Given the description of an element on the screen output the (x, y) to click on. 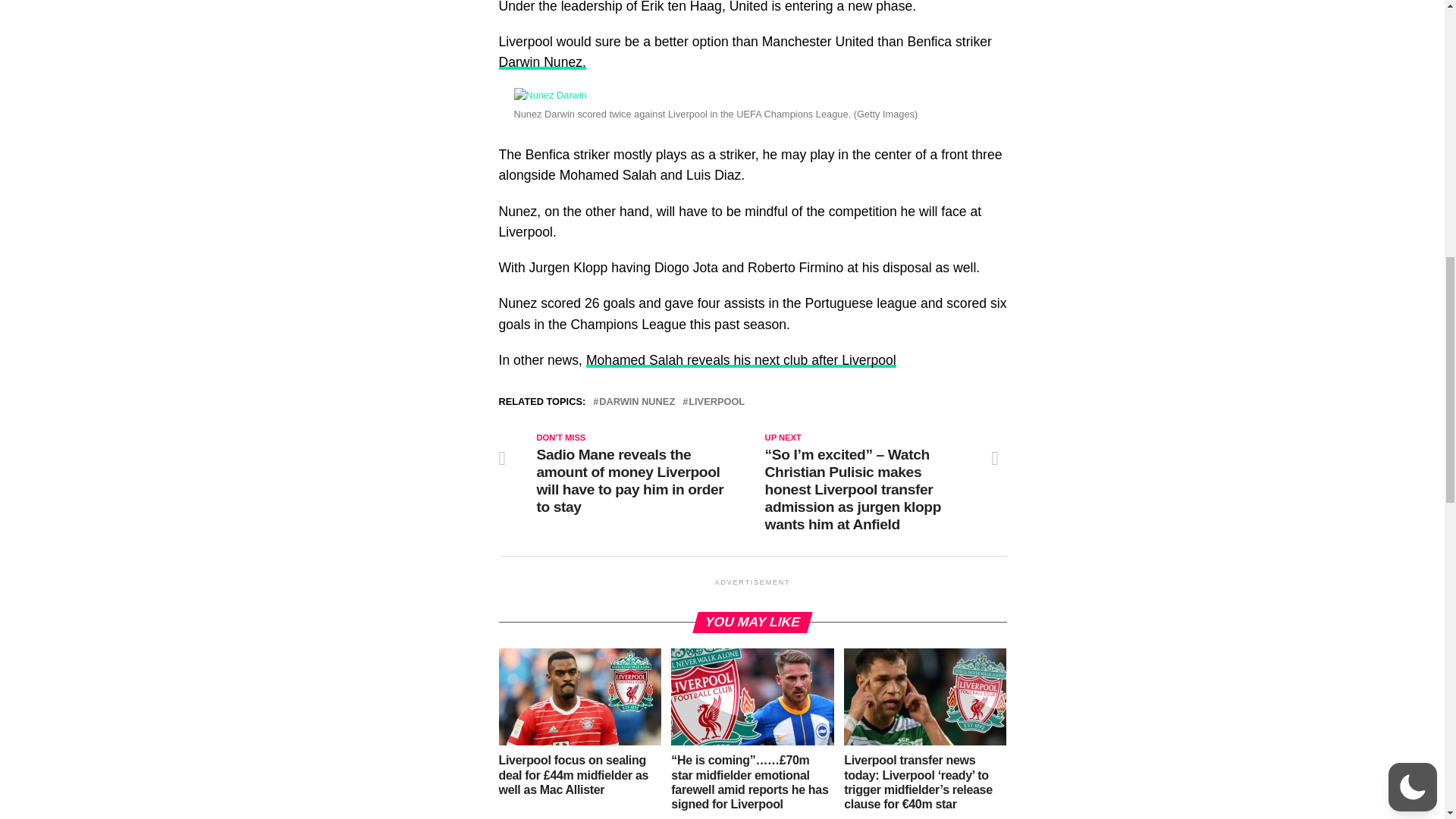
DARWIN NUNEZ (636, 402)
Mohamed Salah reveals his next club after Liverpool (741, 359)
Darwin Nunez. (542, 61)
LIVERPOOL (716, 402)
